Given the description of an element on the screen output the (x, y) to click on. 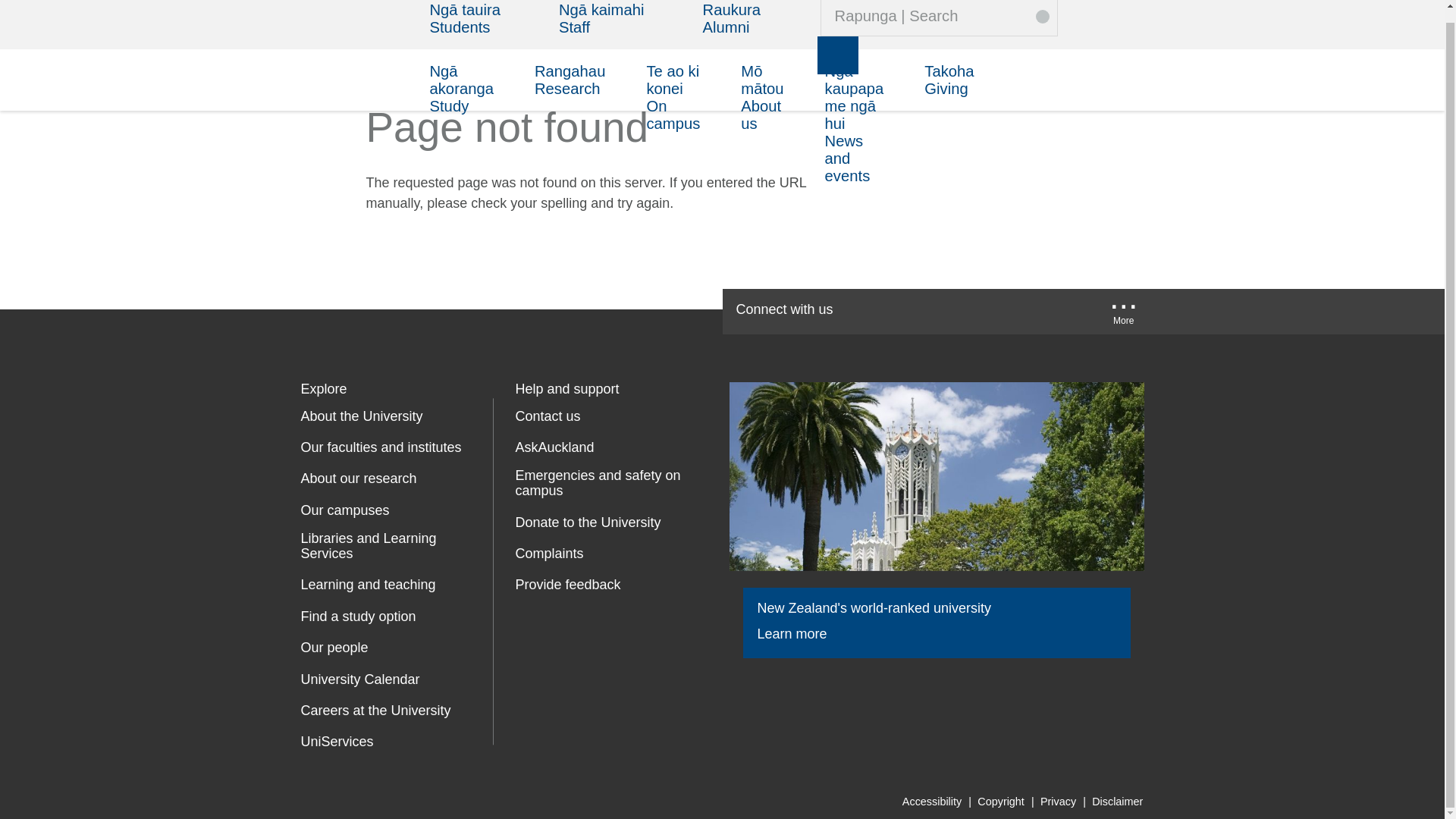
LinkedIn (1021, 311)
YouTube (972, 311)
Twitter (925, 311)
Facebook (876, 311)
Learn more (802, 634)
University of Auckland More Social... (1123, 316)
Instagram (1069, 311)
Women's Refuge (528, 649)
